Given the description of an element on the screen output the (x, y) to click on. 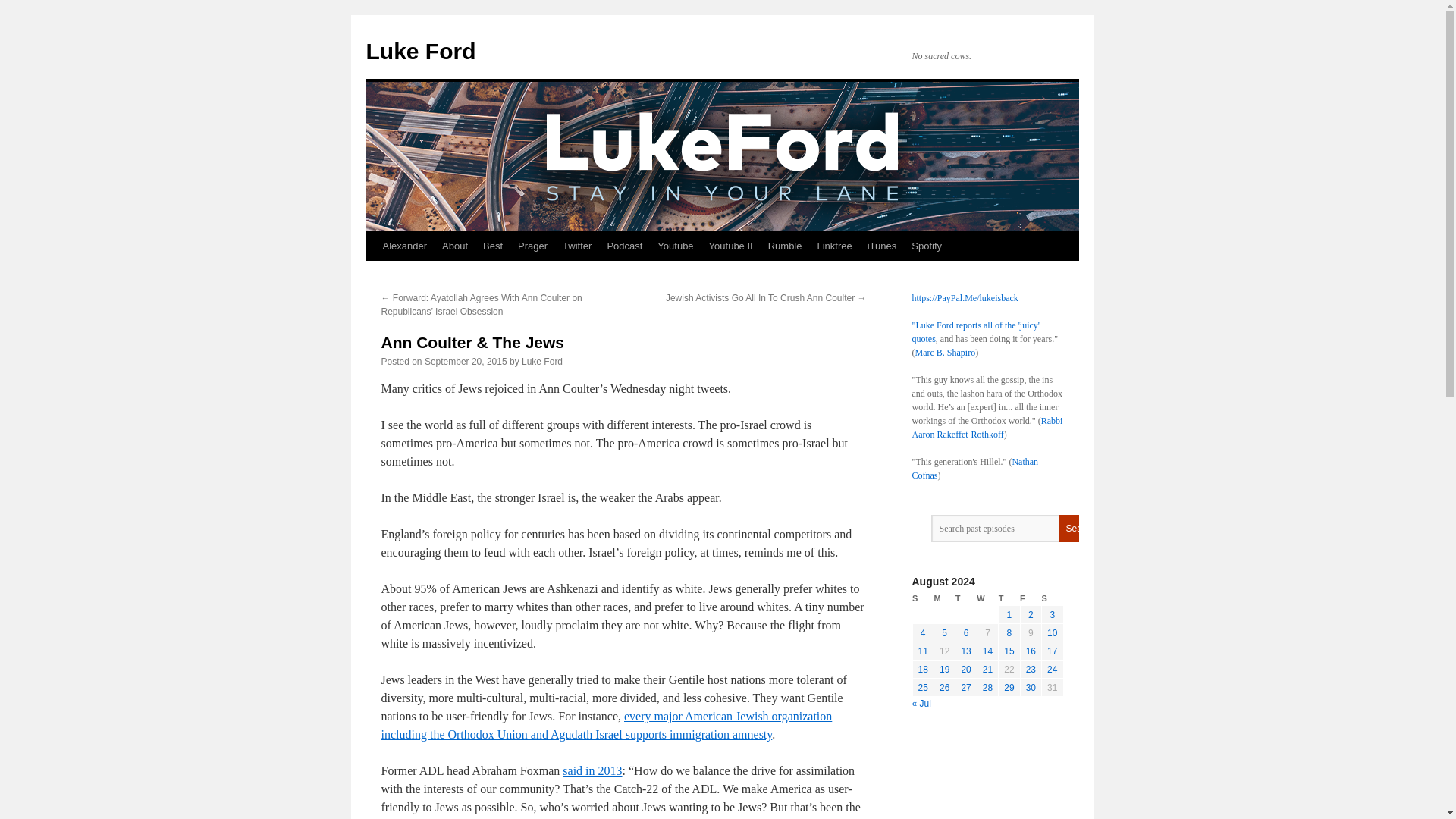
Monday (944, 598)
Marc B. Shapiro (944, 352)
Search (1079, 528)
said in 2013 (591, 770)
"Luke Ford reports all of the 'juicy' quotes (975, 331)
Saturday (1052, 598)
Tuesday (965, 598)
Thursday (1009, 598)
Prager (532, 246)
Alexander (403, 246)
